Given the description of an element on the screen output the (x, y) to click on. 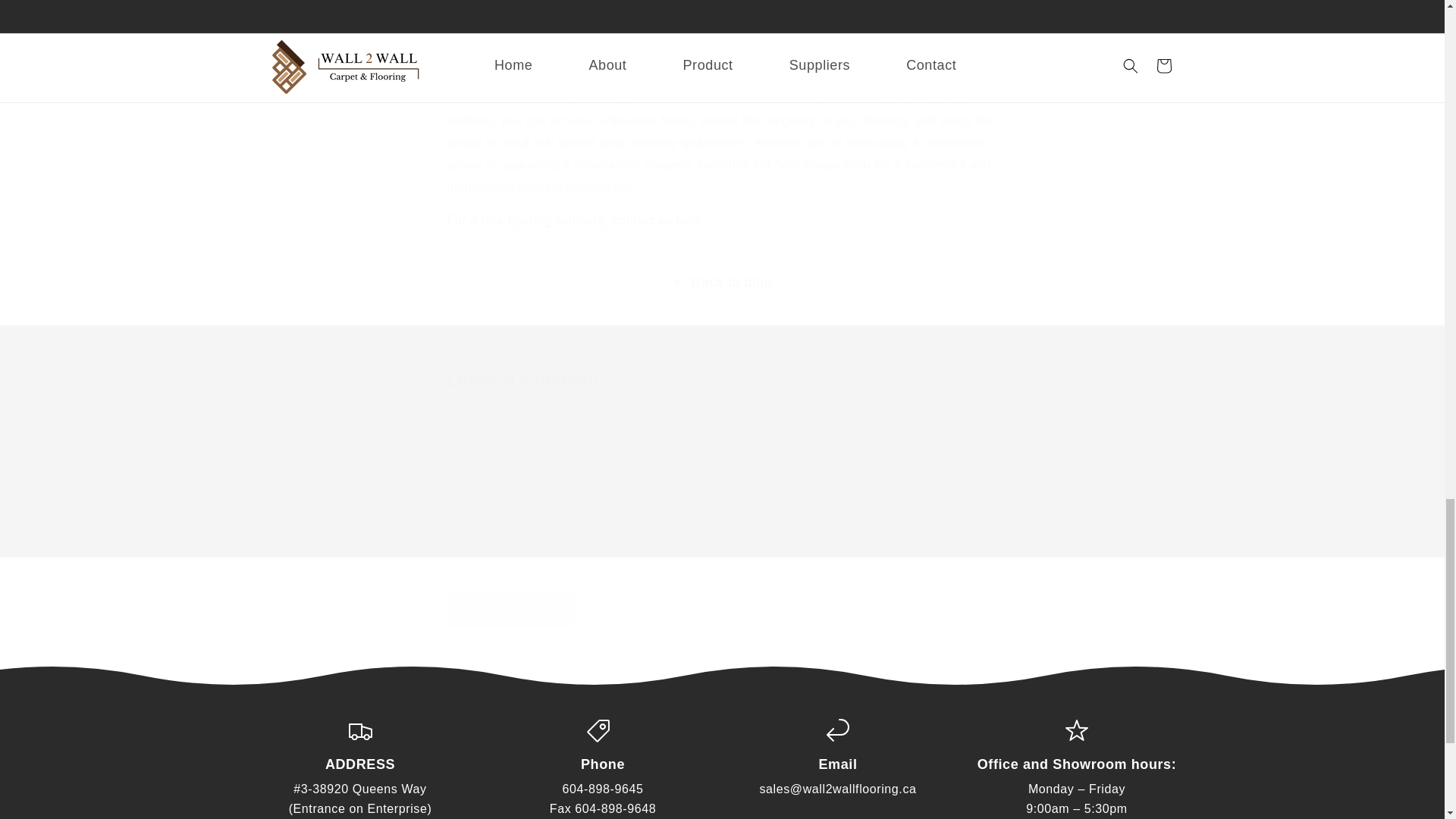
Subfloor Prep Estimation (576, 219)
For a free flooring estimate, contact us here. (576, 219)
Post comment (510, 609)
Post comment (510, 609)
